Given the description of an element on the screen output the (x, y) to click on. 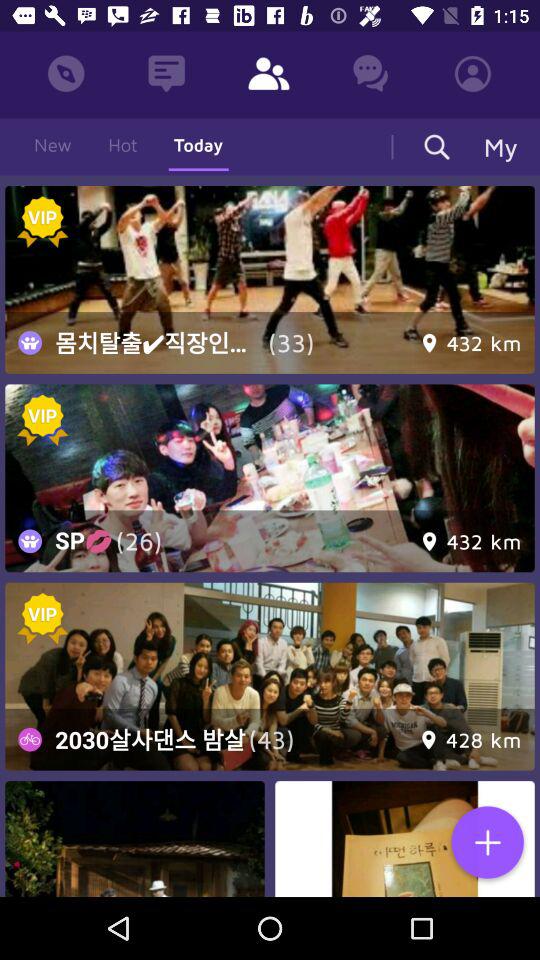
image add button (487, 844)
